Given the description of an element on the screen output the (x, y) to click on. 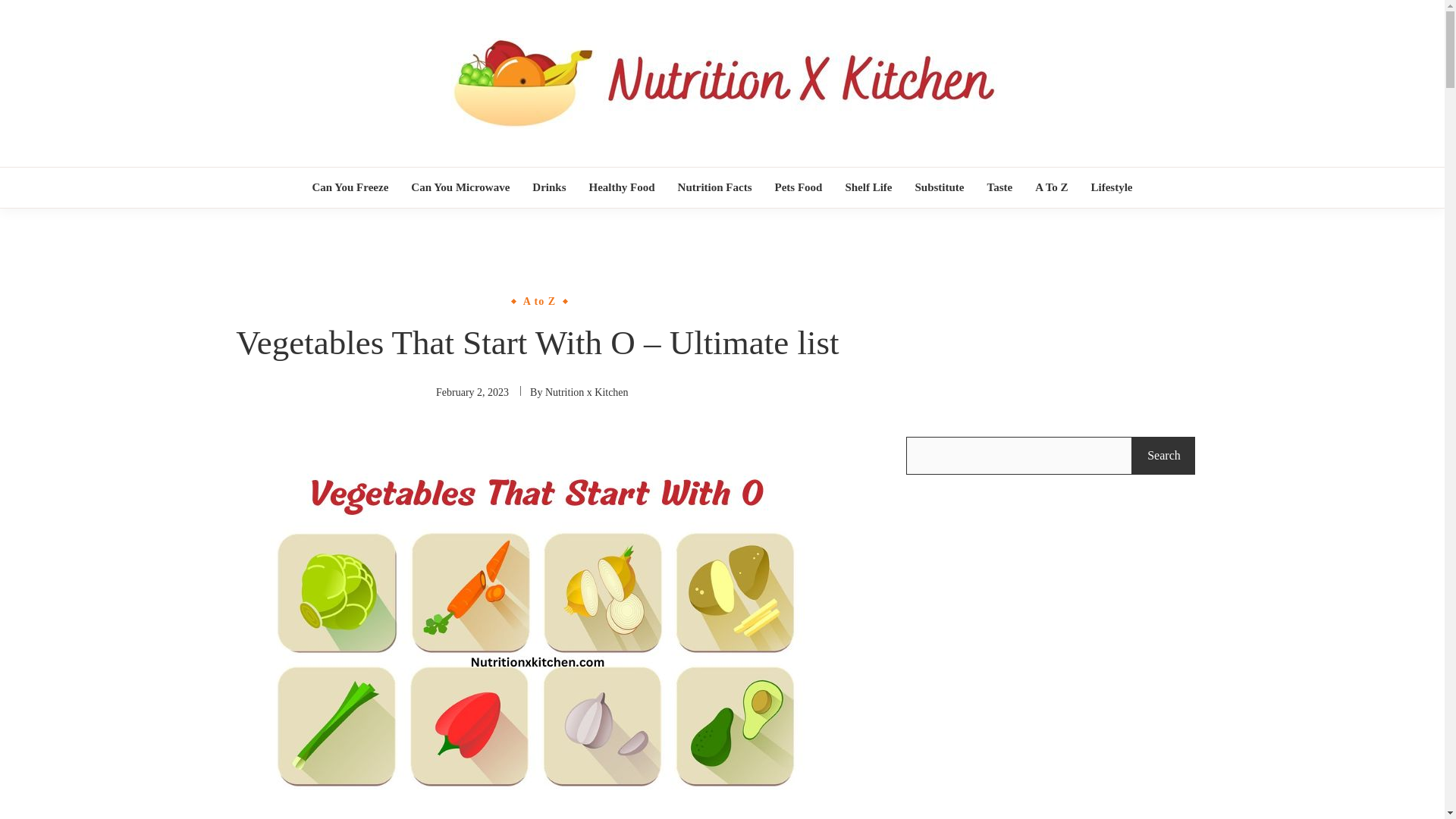
Taste (1000, 187)
Shelf Life (868, 187)
A To Z (1050, 187)
Pets Food (797, 187)
February 2, 2023 (471, 392)
Nutrition Facts (714, 187)
Can You Freeze (349, 187)
Healthy Food (621, 187)
Substitute (939, 187)
Drinks (548, 187)
Lifestyle (1112, 187)
NUTRITION X KITCHEN (772, 167)
Can You Microwave (460, 187)
Nutrition x Kitchen (586, 392)
A to Z (539, 300)
